Given the description of an element on the screen output the (x, y) to click on. 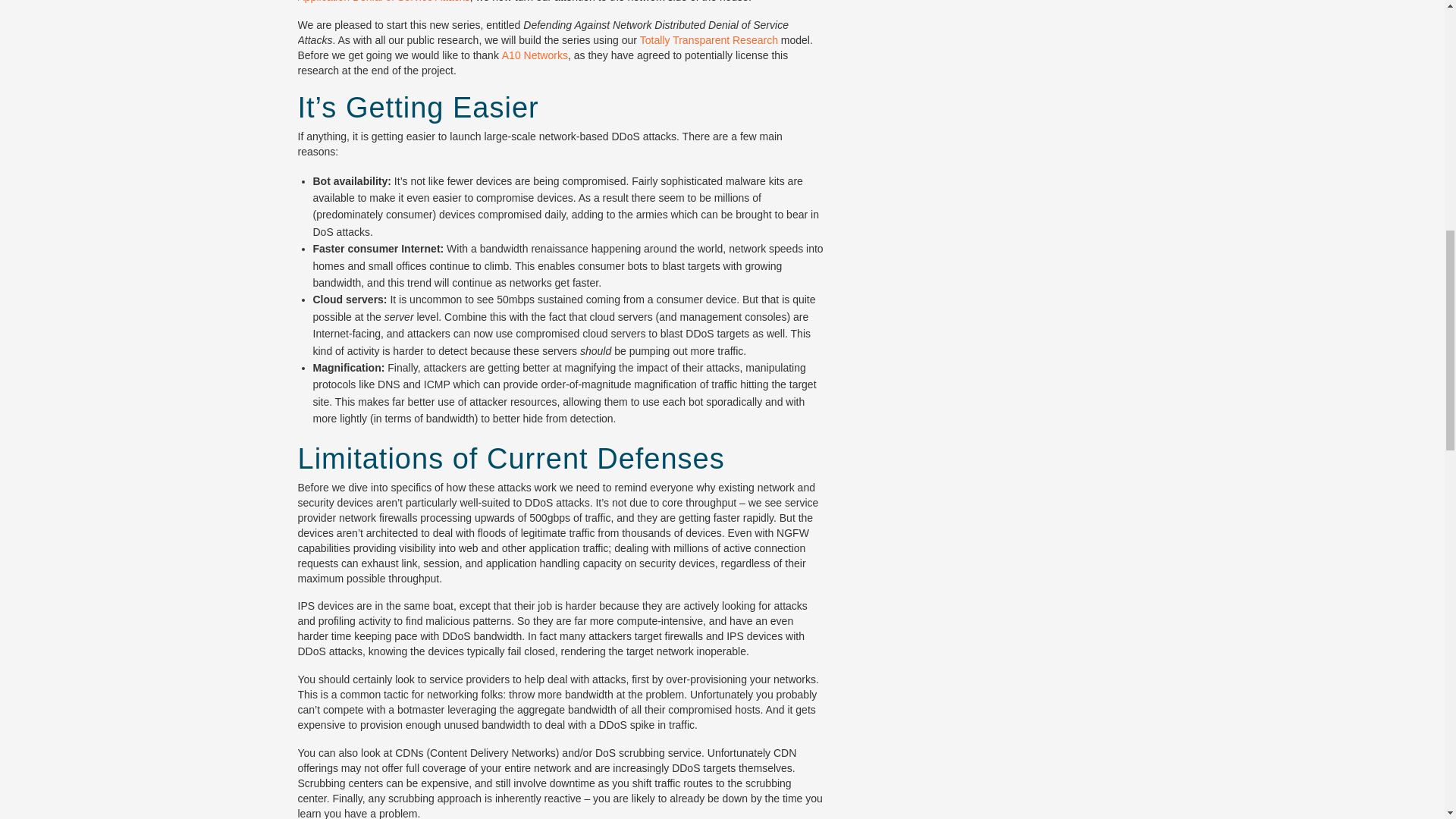
Totally Transparent Research (708, 39)
A10 Networks (534, 55)
